Given the description of an element on the screen output the (x, y) to click on. 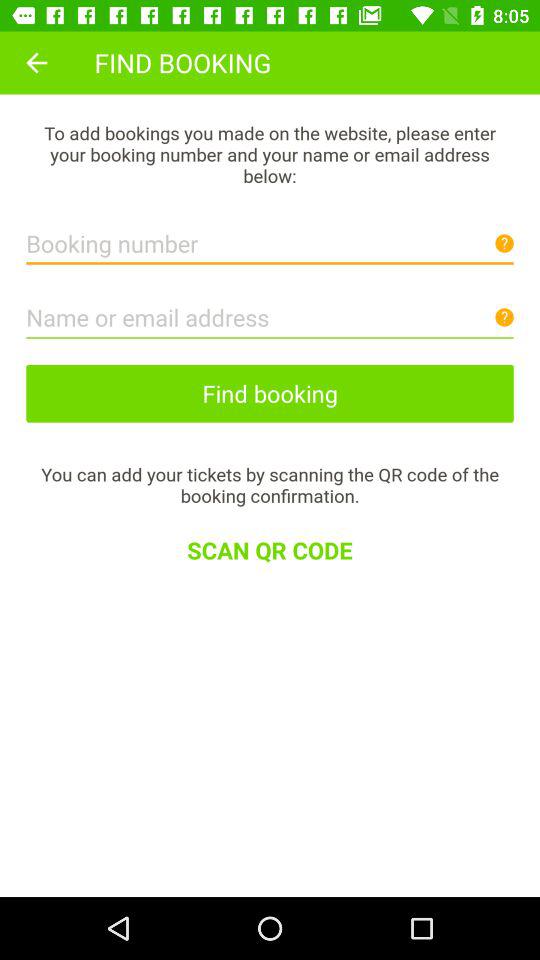
enter the email box (269, 311)
